Given the description of an element on the screen output the (x, y) to click on. 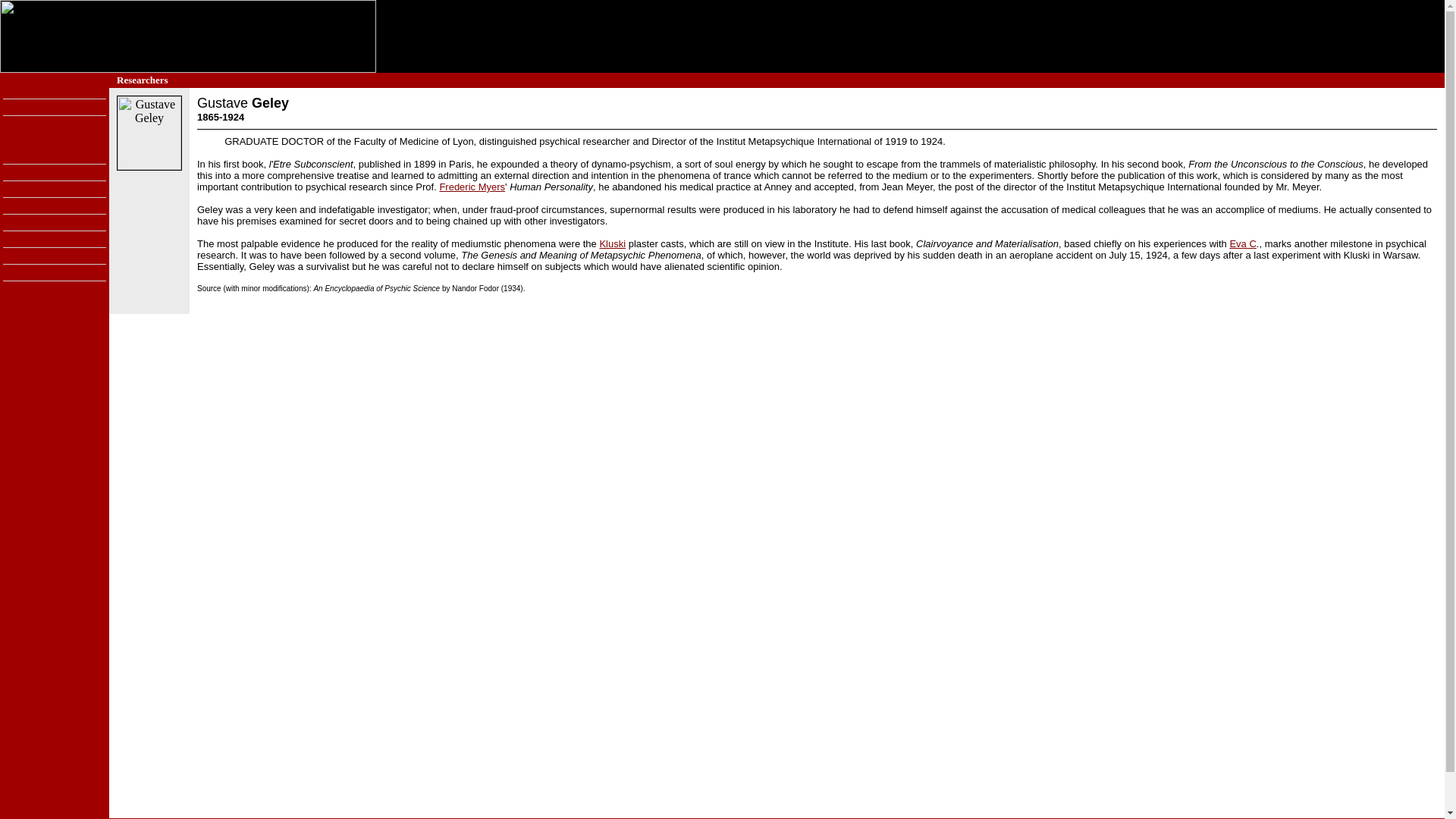
Frederic Myers (472, 186)
Eva C (1241, 243)
Kluski (612, 243)
